Given the description of an element on the screen output the (x, y) to click on. 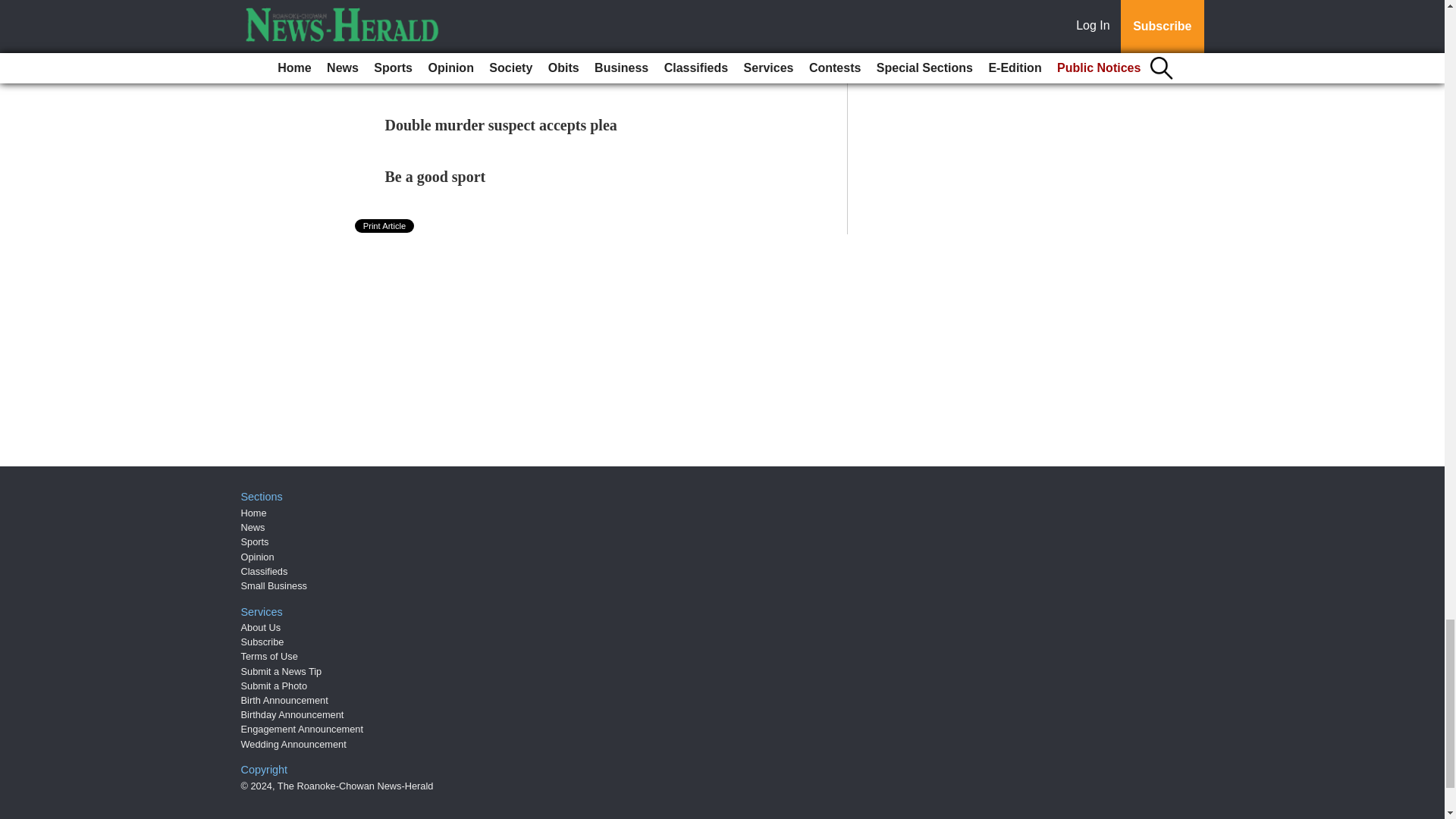
Double murder suspect enters guilty plea (517, 73)
Double murder suspect accepts plea (501, 125)
Be a good sport (435, 176)
Print Article (384, 225)
Bertie Under Warning until 5:00 pm (503, 21)
Bertie Under Warning until 5:00 pm (503, 21)
Double murder suspect accepts plea (501, 125)
Double murder suspect enters guilty plea (517, 73)
Be a good sport (435, 176)
